Given the description of an element on the screen output the (x, y) to click on. 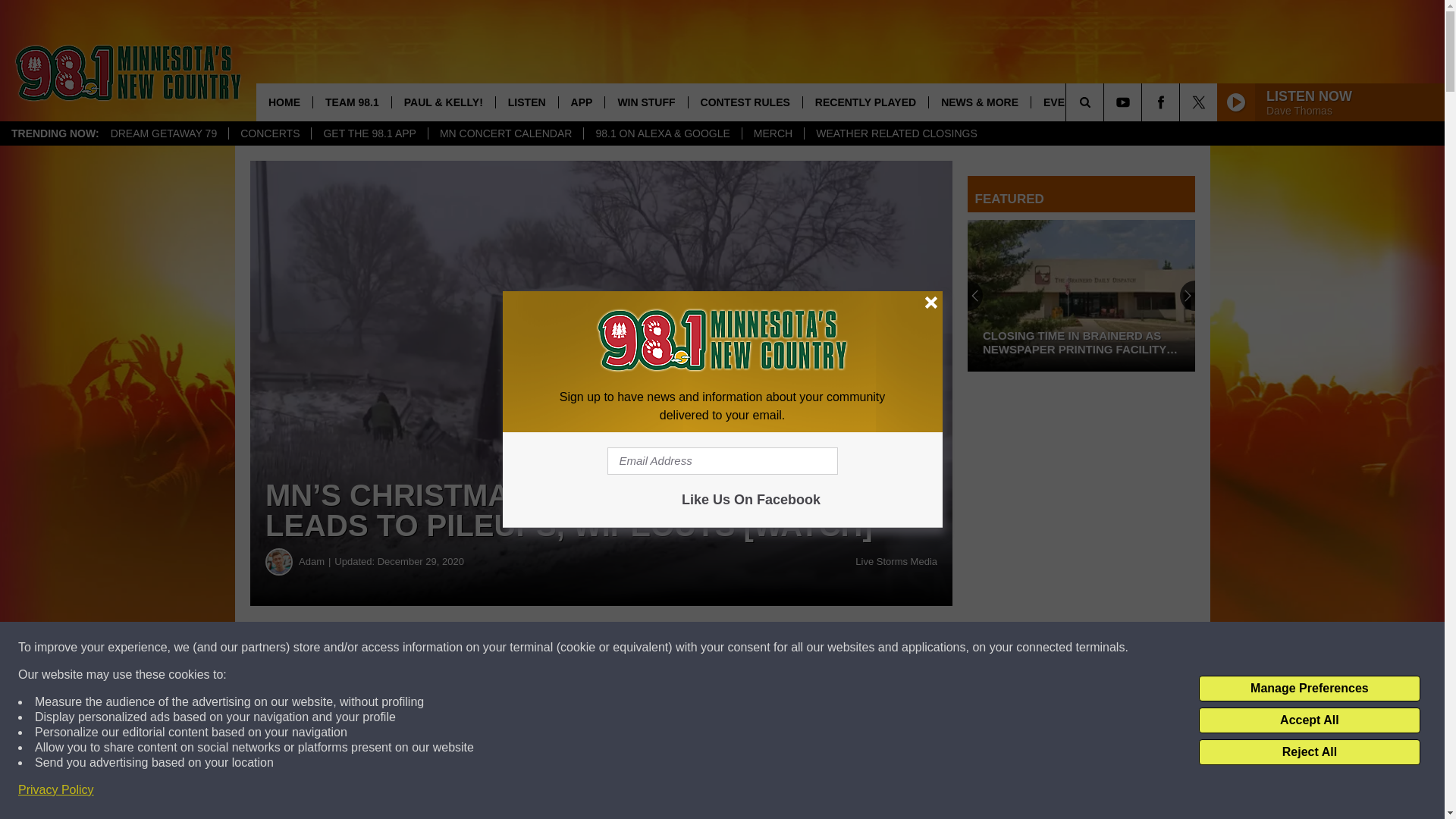
WIN STUFF (645, 102)
MN CONCERT CALENDAR (505, 133)
TEAM 98.1 (352, 102)
HOME (284, 102)
APP (581, 102)
MERCH (772, 133)
CONTEST RULES (744, 102)
Reject All (1309, 751)
Email Address (722, 461)
Accept All (1309, 720)
Share on Facebook (460, 647)
Privacy Policy (55, 789)
SEARCH (1106, 102)
Share on Twitter (741, 647)
GET THE 98.1 APP (368, 133)
